Given the description of an element on the screen output the (x, y) to click on. 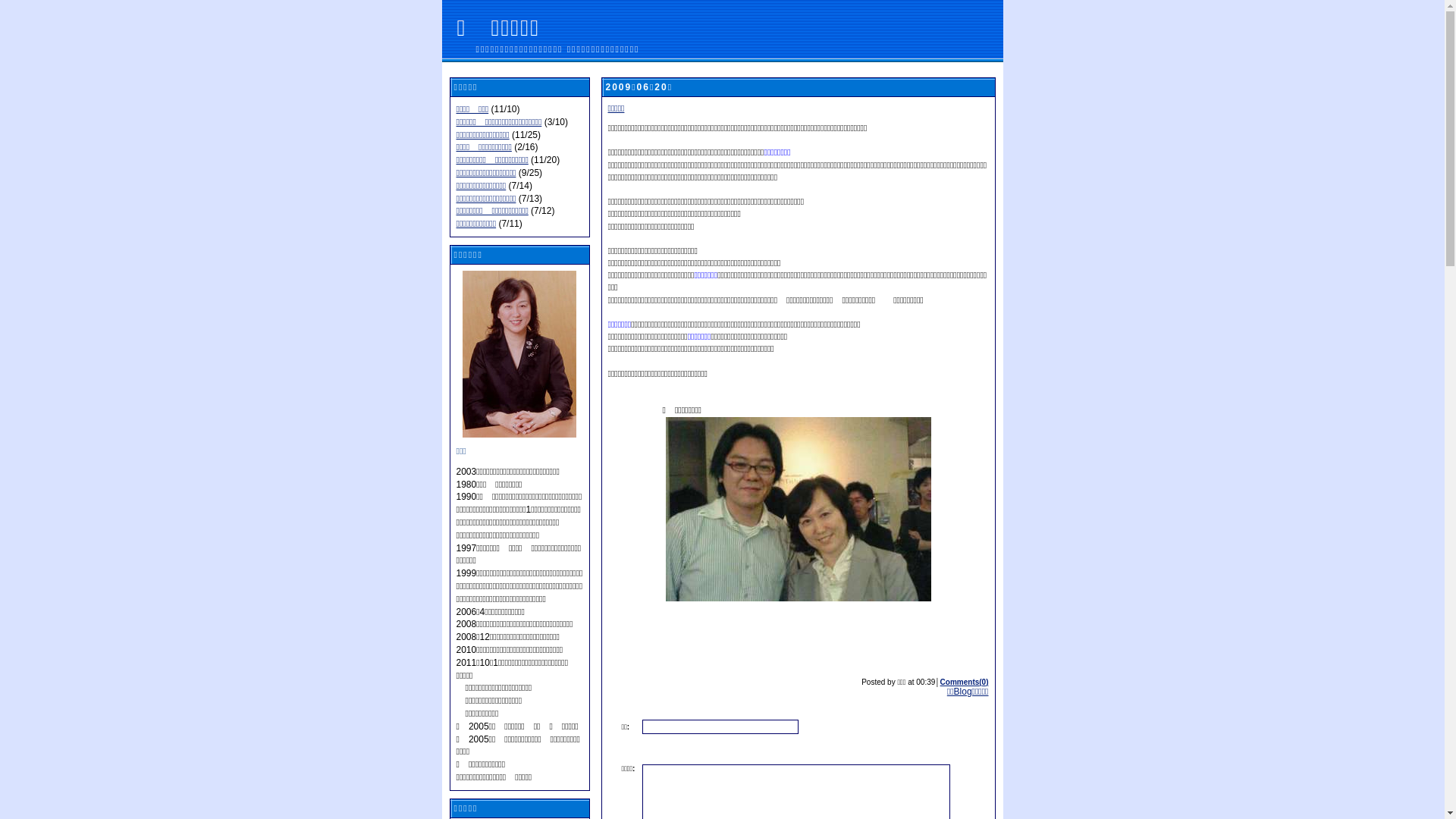
Comments(0) Element type: text (964, 681)
